Given the description of an element on the screen output the (x, y) to click on. 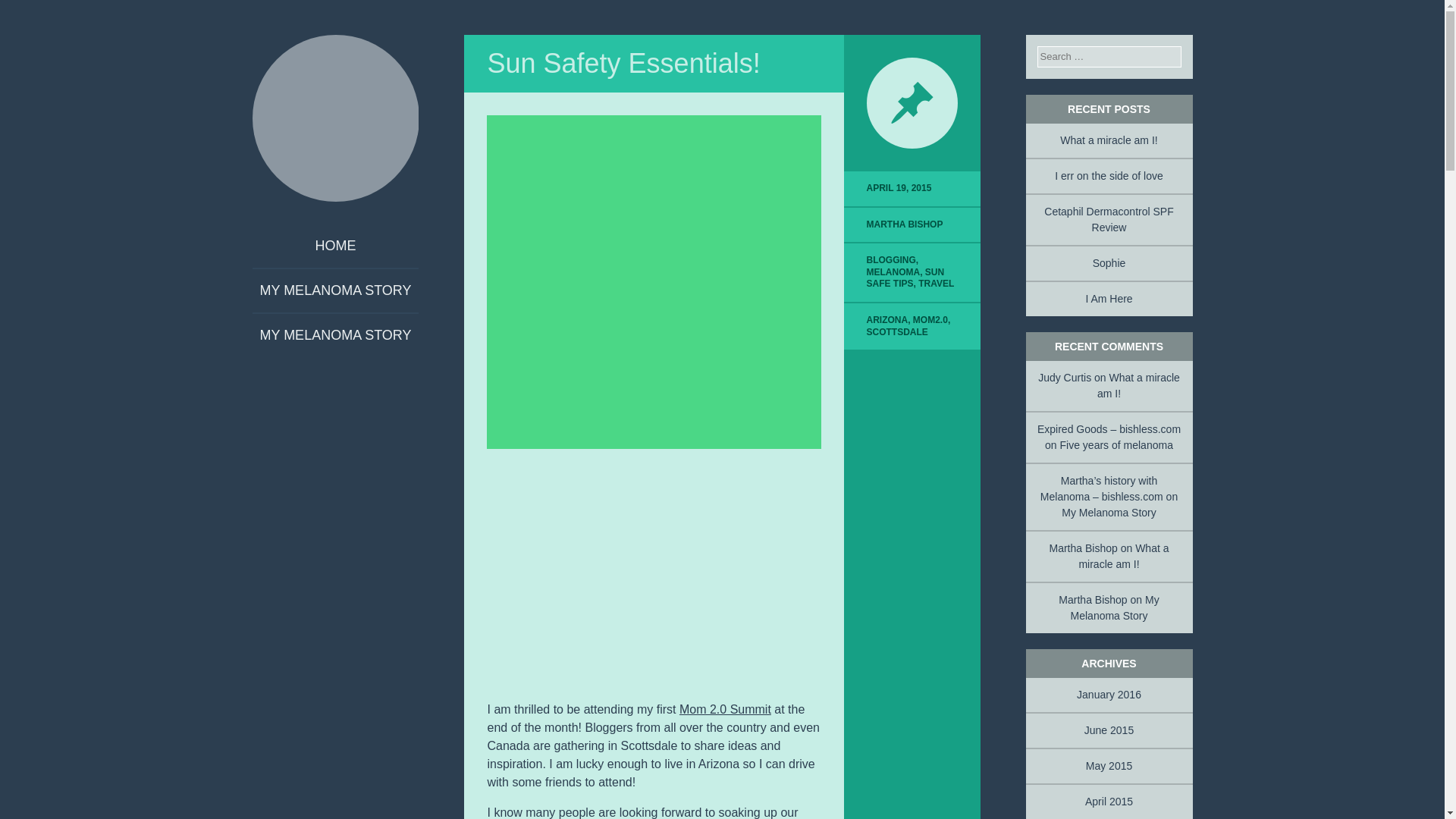
Martha Bishop (335, 118)
HOME (335, 245)
SCOTTSDALE (897, 331)
View all posts by Martha Bishop (904, 224)
Five years of melanoma (1116, 444)
Cetaphil Dermacontrol SPF Review (1108, 219)
MARTHA BISHOP (904, 224)
Mom 2.0 Summit (725, 708)
MY MELANOMA STORY (335, 290)
Search (30, 11)
